Given the description of an element on the screen output the (x, y) to click on. 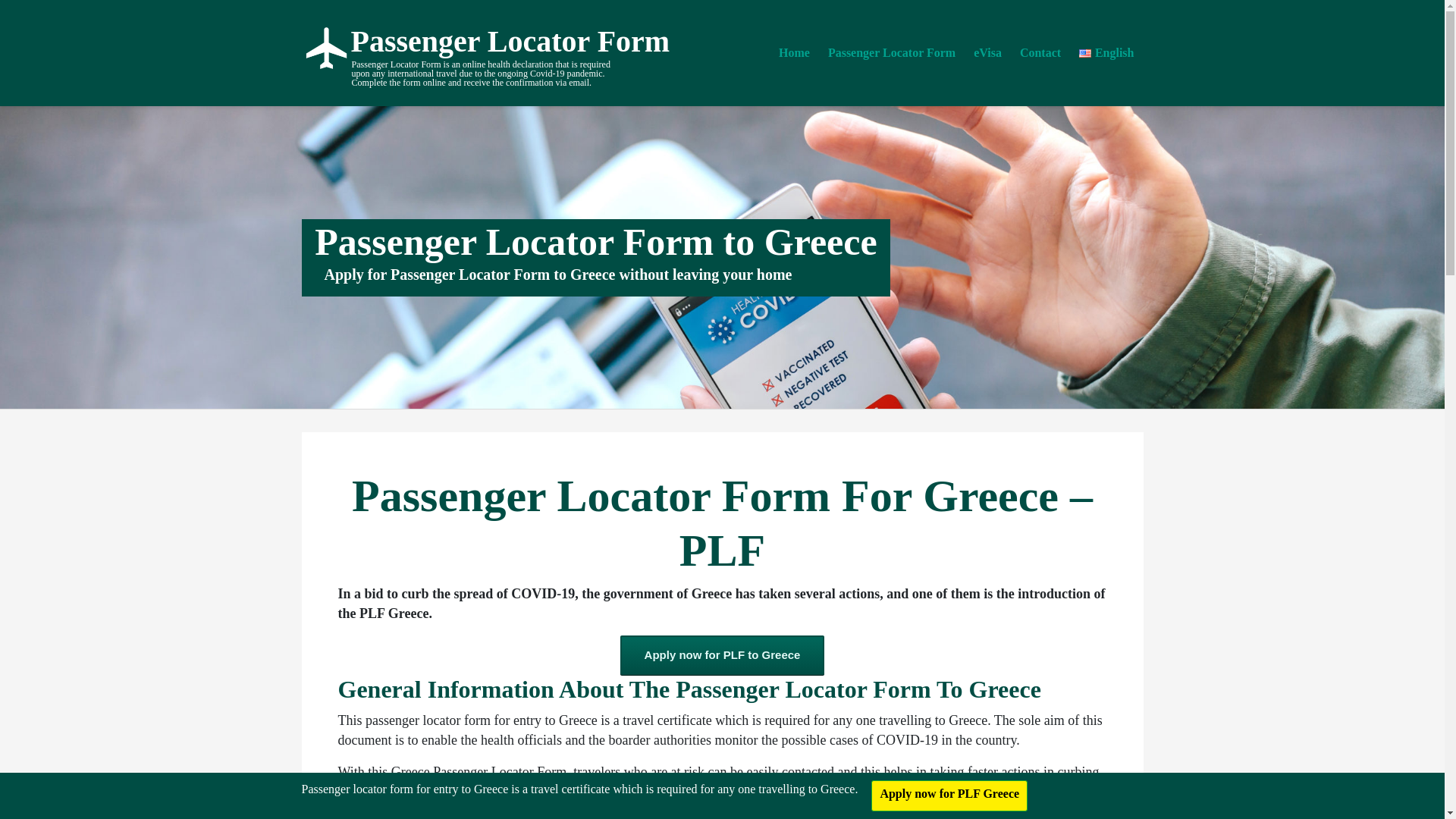
Passenger Locator Form (890, 53)
Home Page (461, 47)
Passenger Locator Form (461, 47)
